Given the description of an element on the screen output the (x, y) to click on. 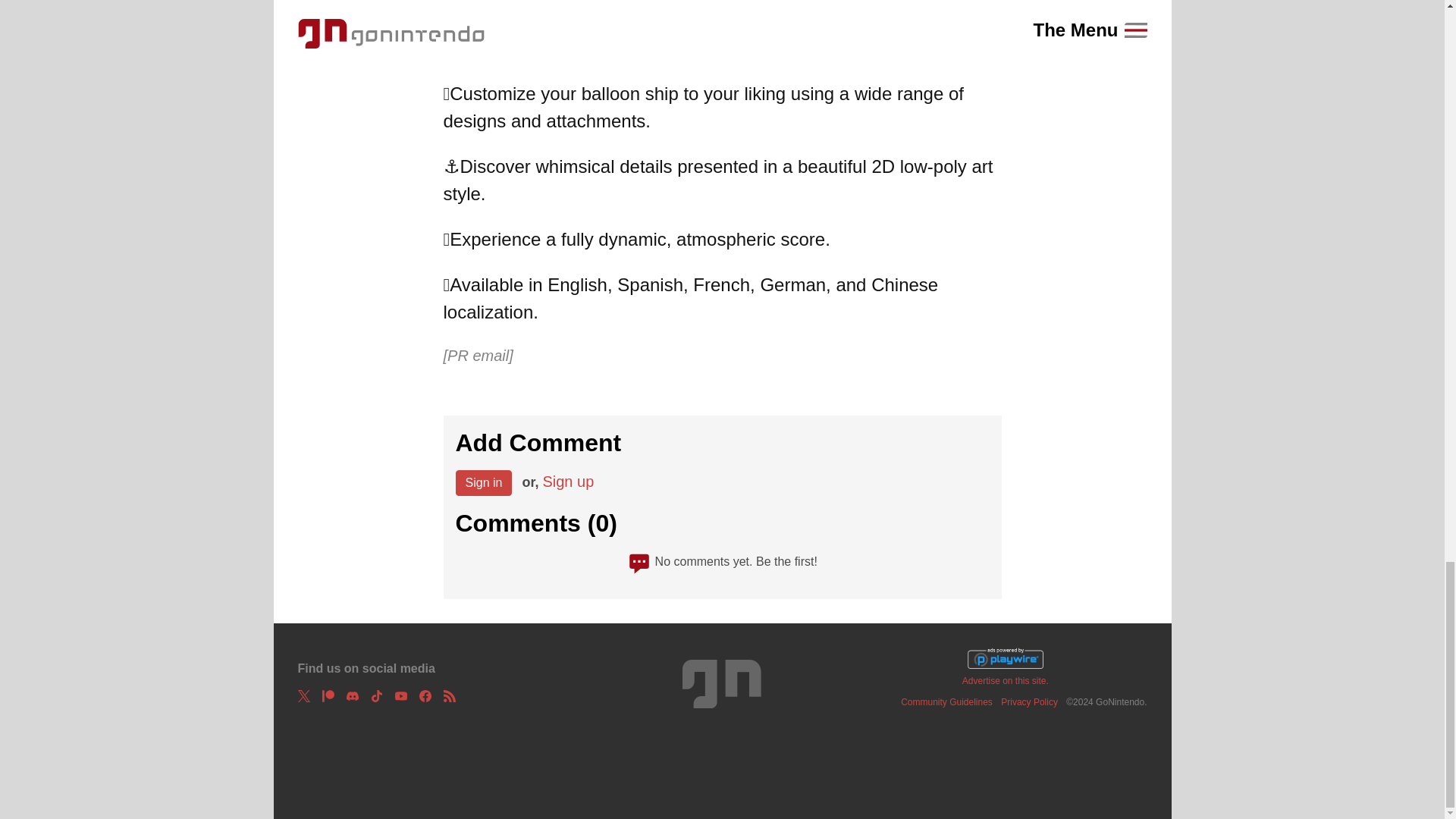
Support GN on Patreon (327, 695)
Follow us on X (302, 695)
Discord Invite (352, 695)
